Given the description of an element on the screen output the (x, y) to click on. 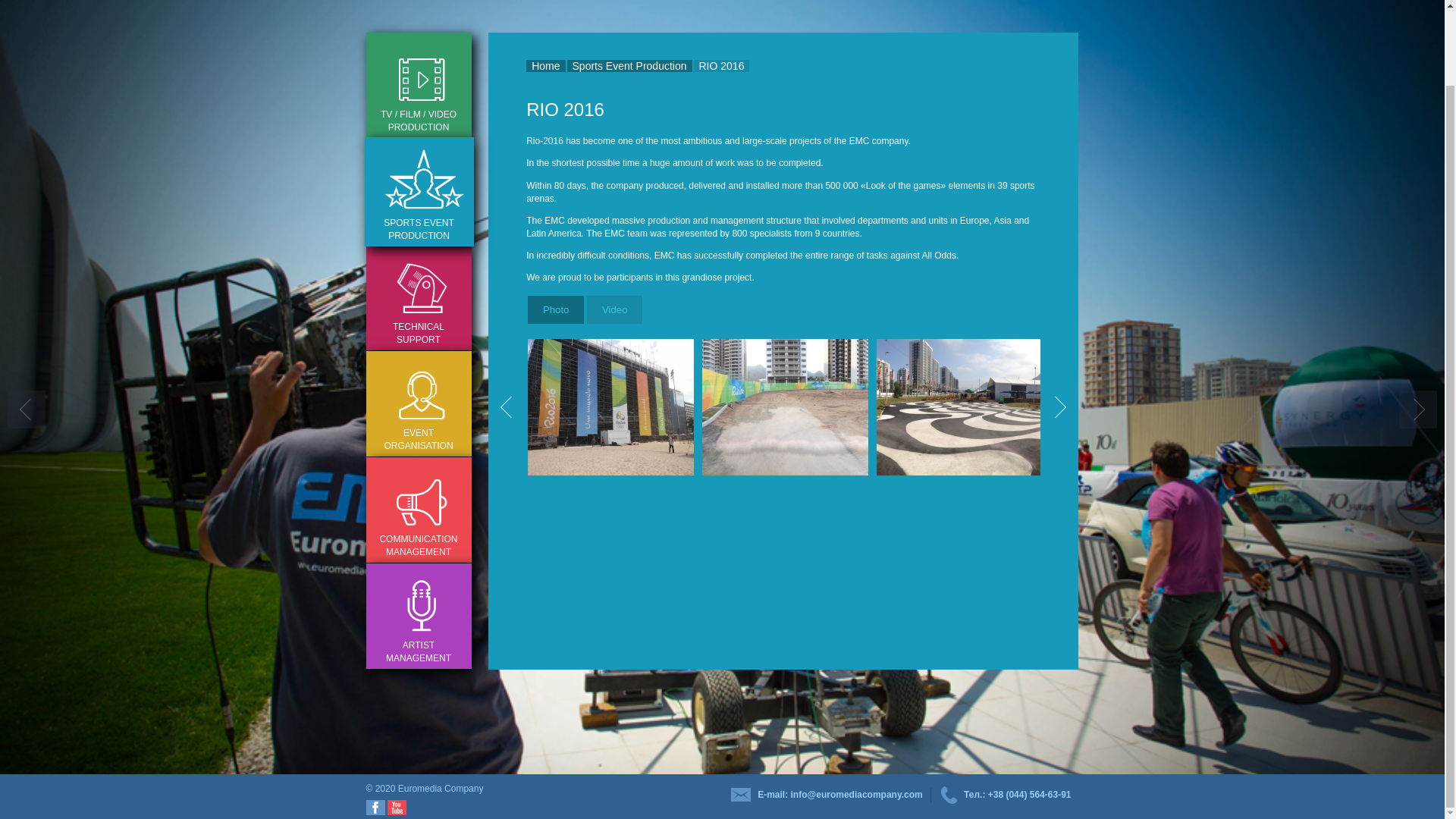
TECHNICAL SUPPORT (417, 297)
Video (614, 309)
COMMUNICATION MANAGEMENT (417, 509)
Home (544, 65)
EVENT ORGANISATION (417, 403)
Sports Event Production (630, 65)
SPORTS EVENT PRODUCTION (418, 191)
ARTIST MANAGEMENT (417, 616)
Photo (555, 309)
